Given the description of an element on the screen output the (x, y) to click on. 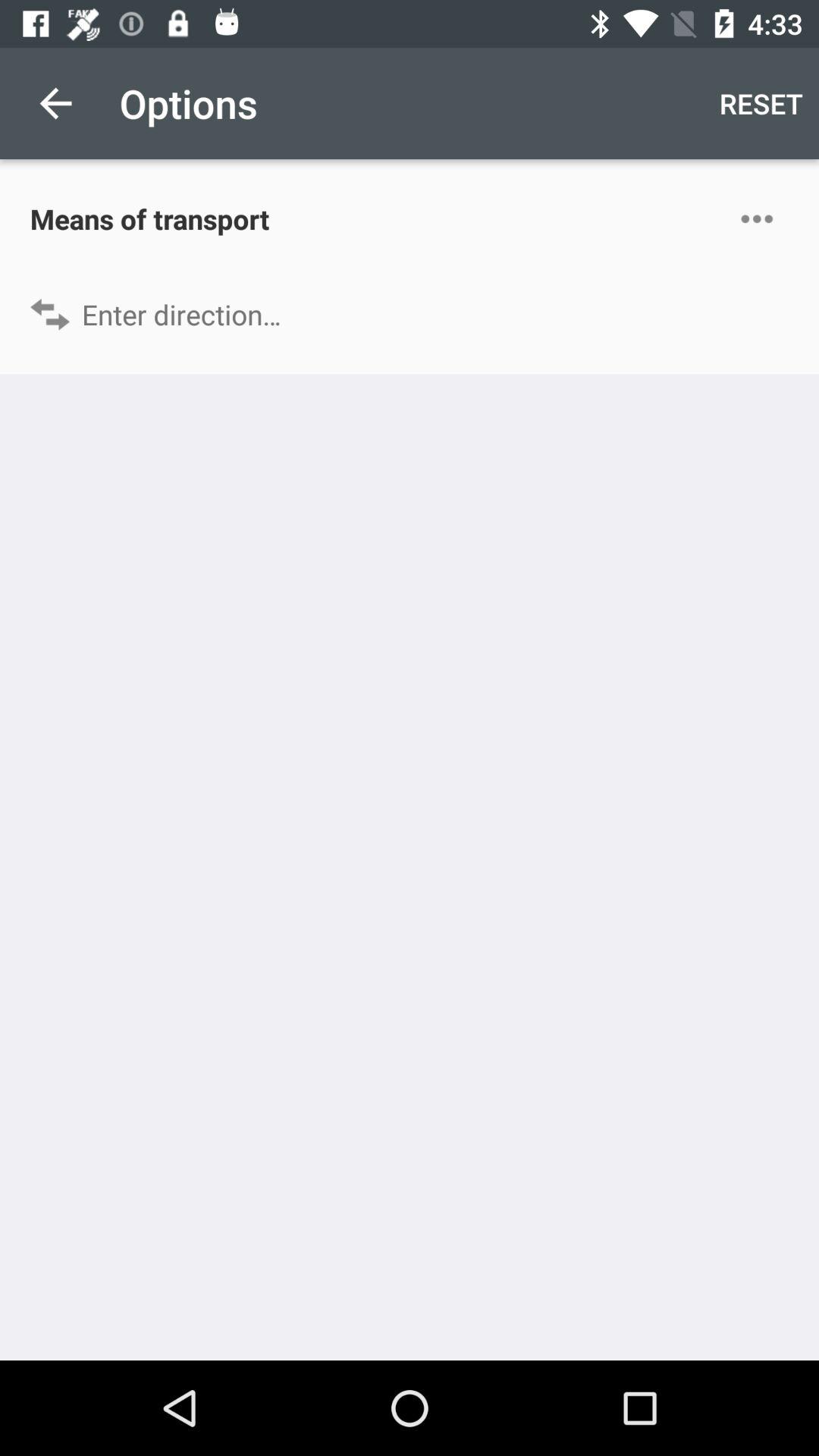
choose icon to the left of options (55, 103)
